Given the description of an element on the screen output the (x, y) to click on. 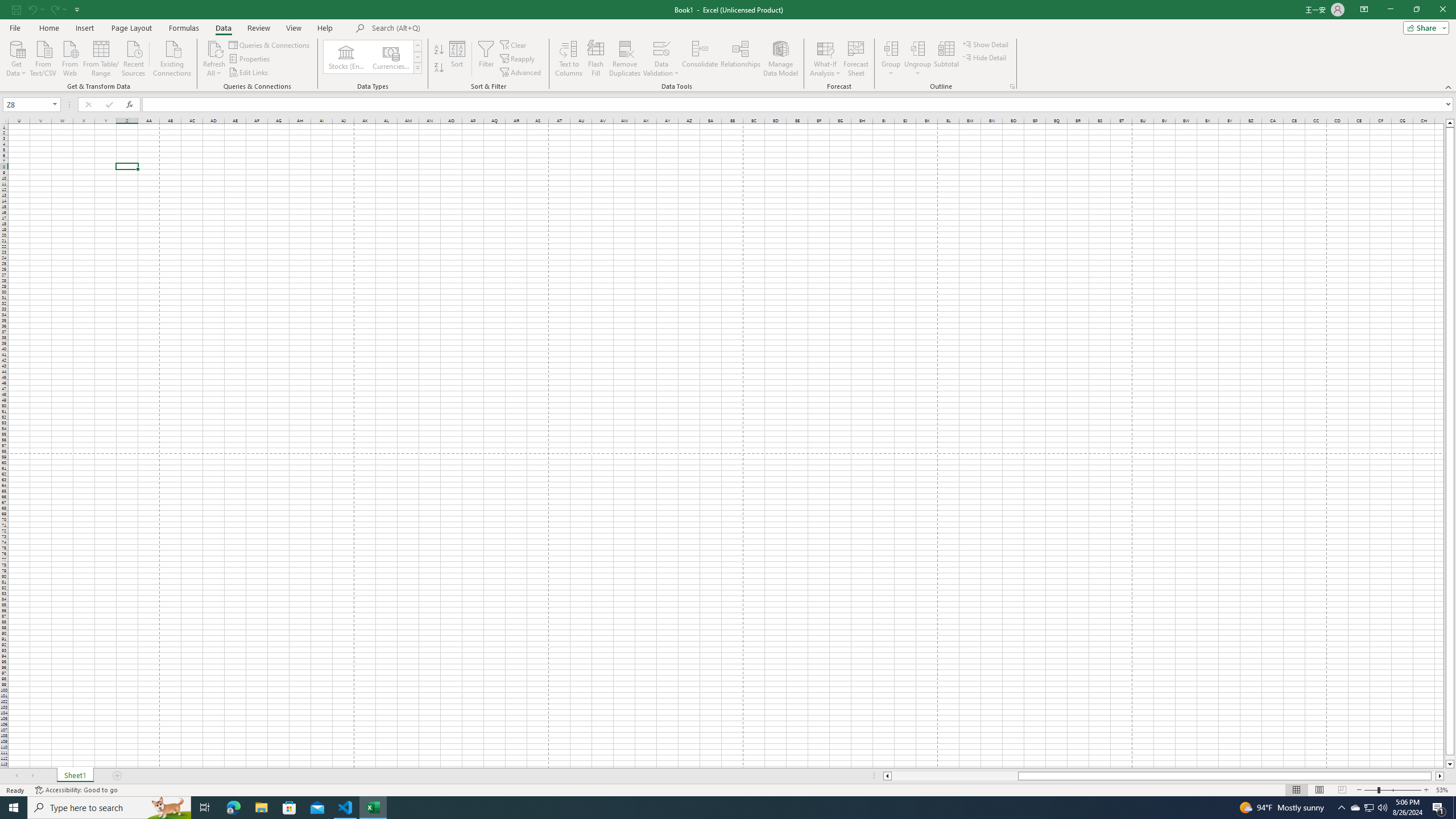
Data Validation... (661, 58)
Scroll Left (16, 775)
Consolidate... (700, 58)
Page left (954, 775)
Hide Detail (985, 56)
Data Types (417, 67)
Page right (1433, 775)
From Text/CSV (43, 57)
Sheet1 (74, 775)
Data (223, 28)
System (6, 6)
Customize Quick Access Toolbar (77, 9)
Show Detail (985, 44)
